Given the description of an element on the screen output the (x, y) to click on. 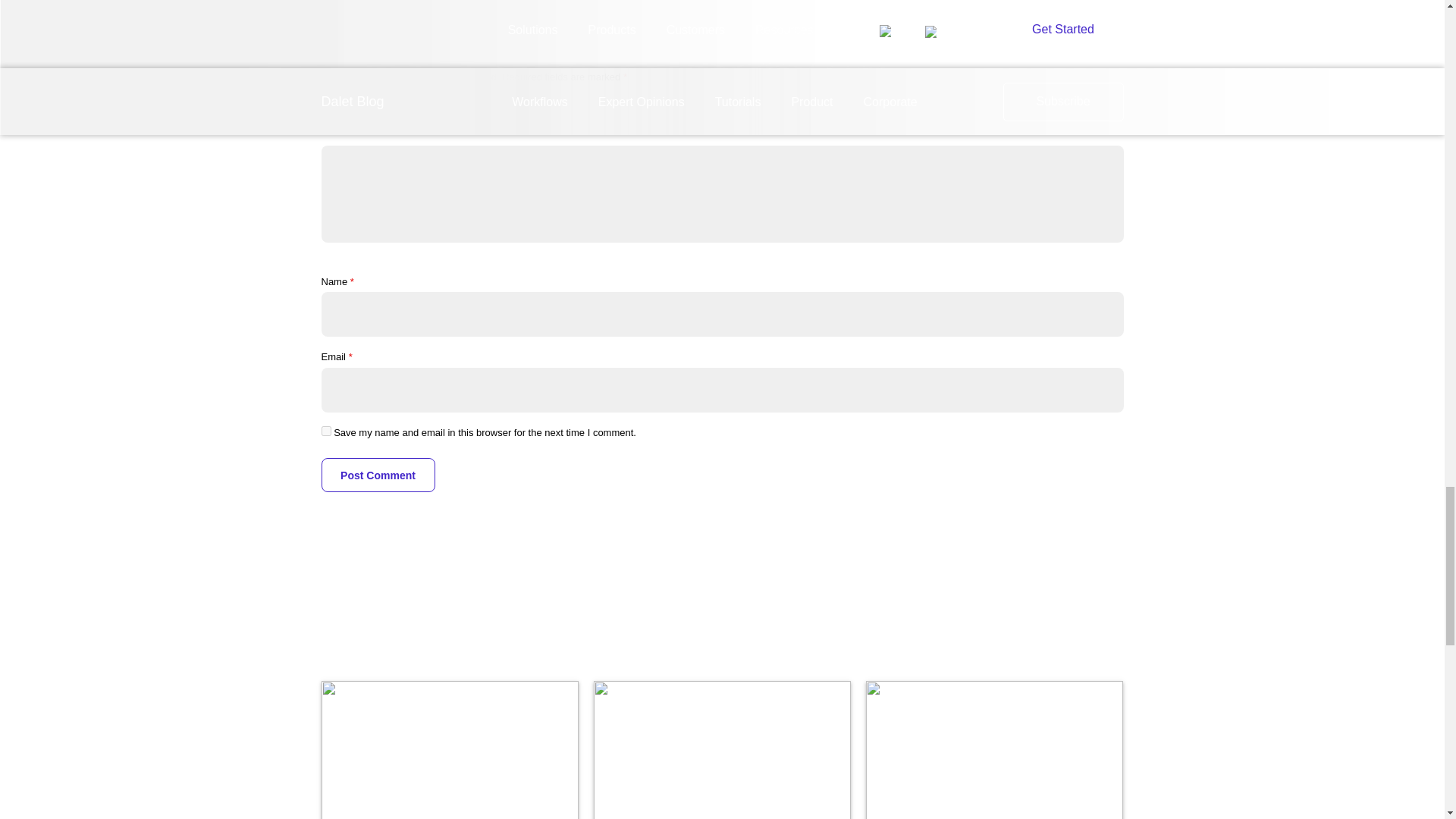
yes (326, 430)
Post Comment (378, 474)
